Given the description of an element on the screen output the (x, y) to click on. 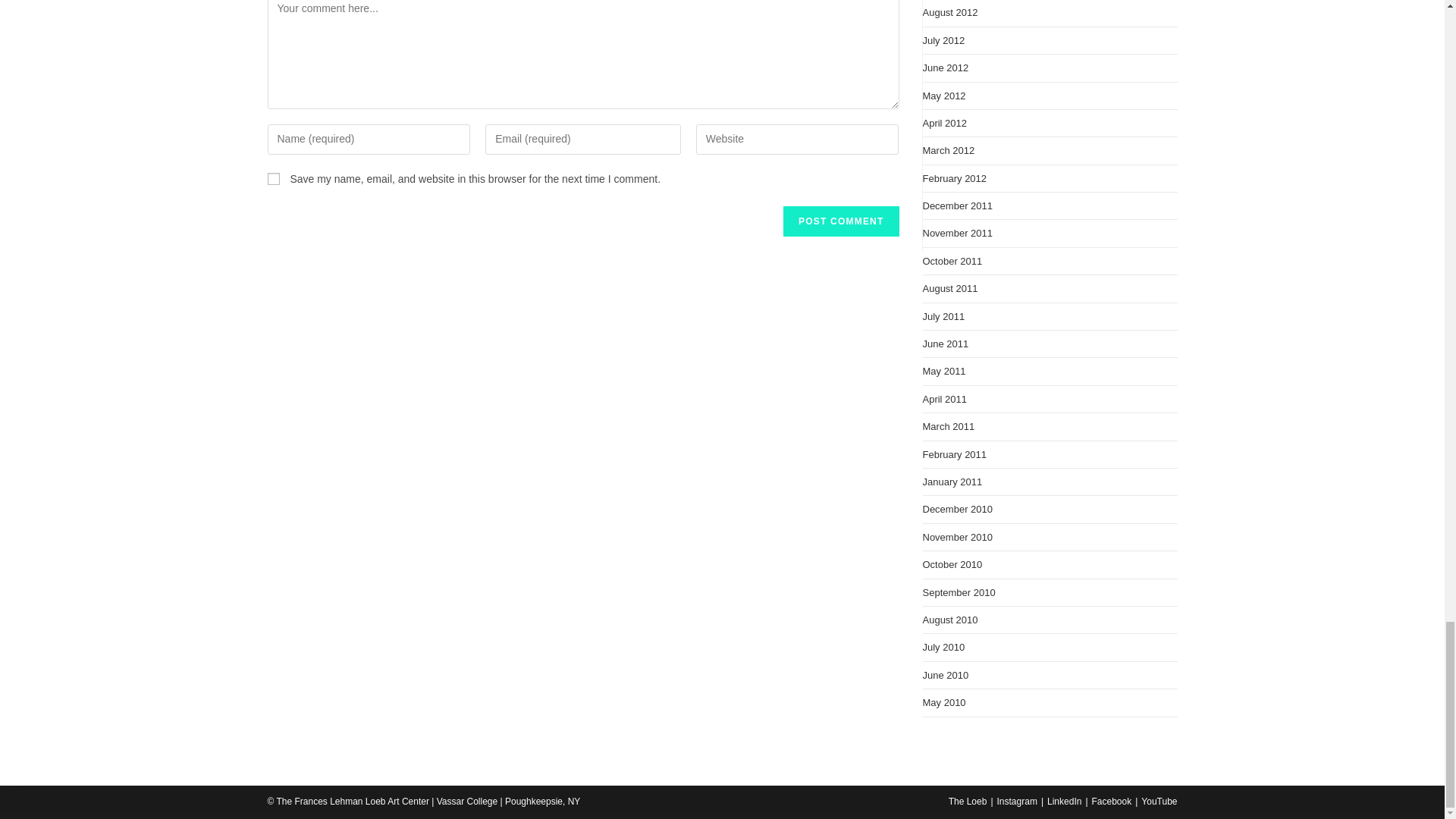
Post Comment (840, 221)
yes (272, 178)
